Given the description of an element on the screen output the (x, y) to click on. 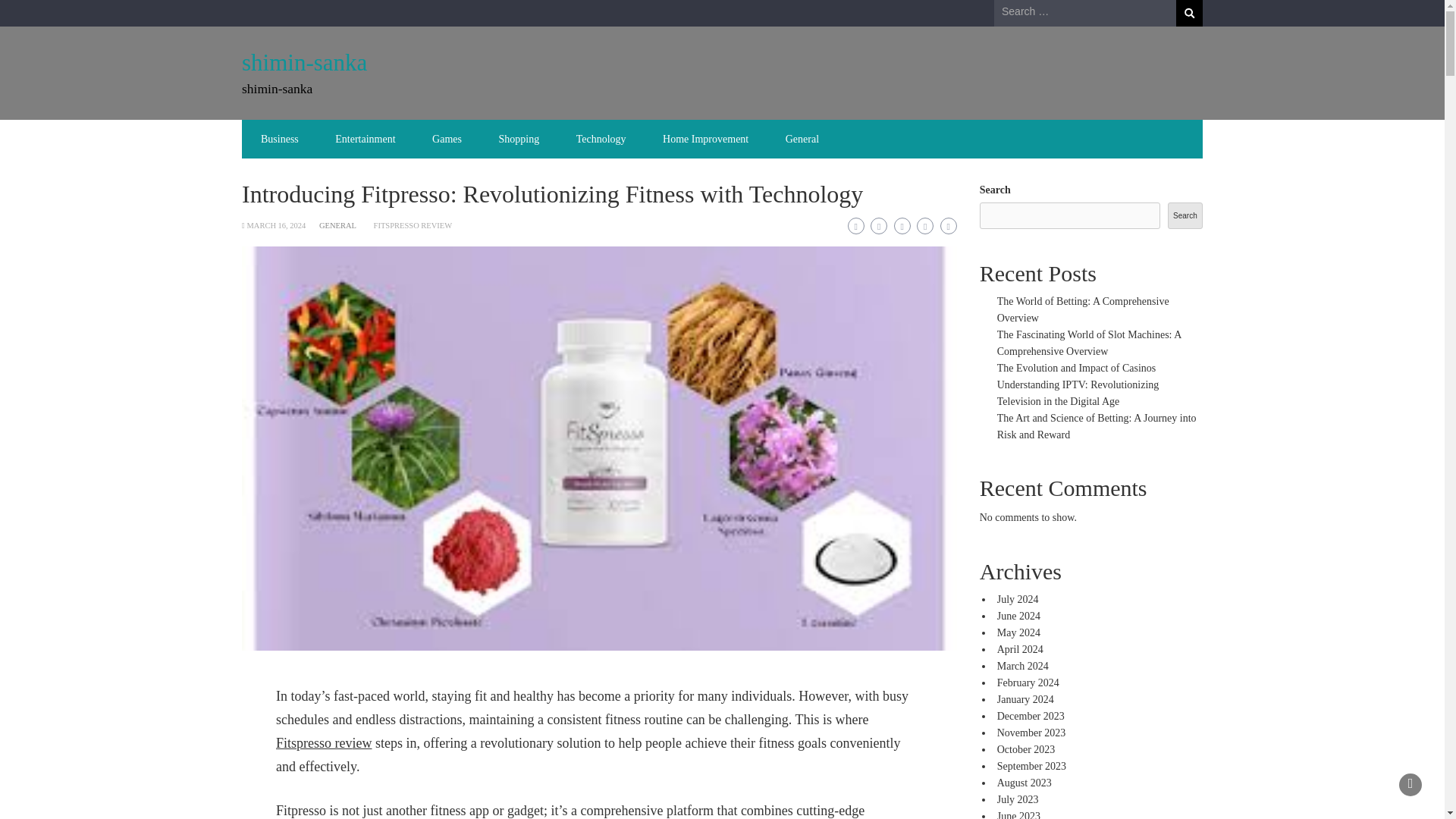
shimin-sanka (303, 62)
FITSPRESSO REVIEW (413, 225)
Business (280, 138)
Games (446, 138)
Search (1189, 13)
Search (1189, 13)
The Evolution and Impact of Casinos (1076, 367)
MARCH 16, 2024 (275, 225)
Fitspresso rev (314, 743)
June 2024 (1019, 615)
July 2024 (1018, 599)
iew (361, 743)
GENERAL (337, 225)
Shopping (518, 138)
The World of Betting: A Comprehensive Overview (1083, 309)
